Given the description of an element on the screen output the (x, y) to click on. 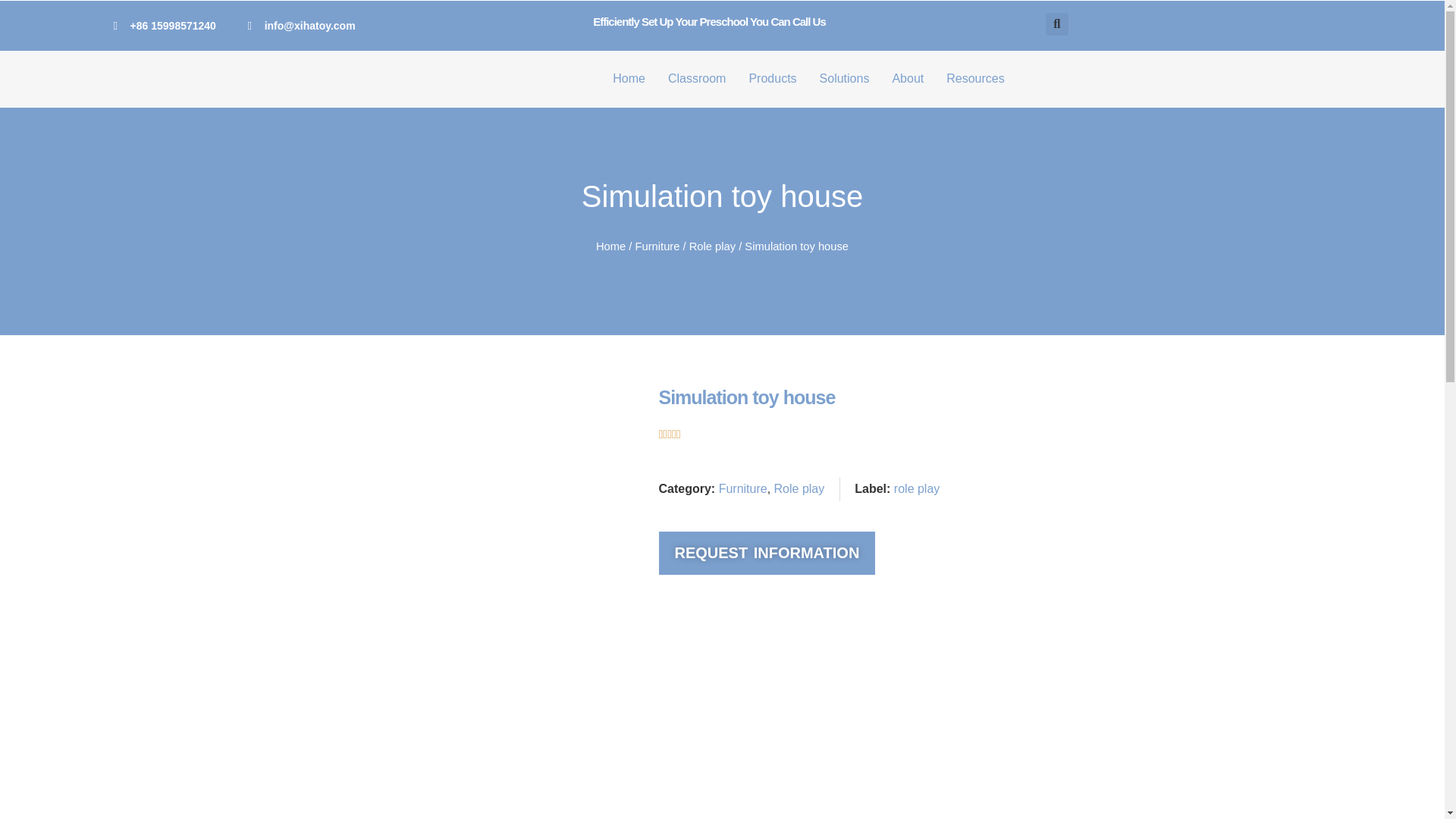
Home (628, 78)
Classroom (697, 78)
Solutions (844, 78)
Products (772, 78)
